Given the description of an element on the screen output the (x, y) to click on. 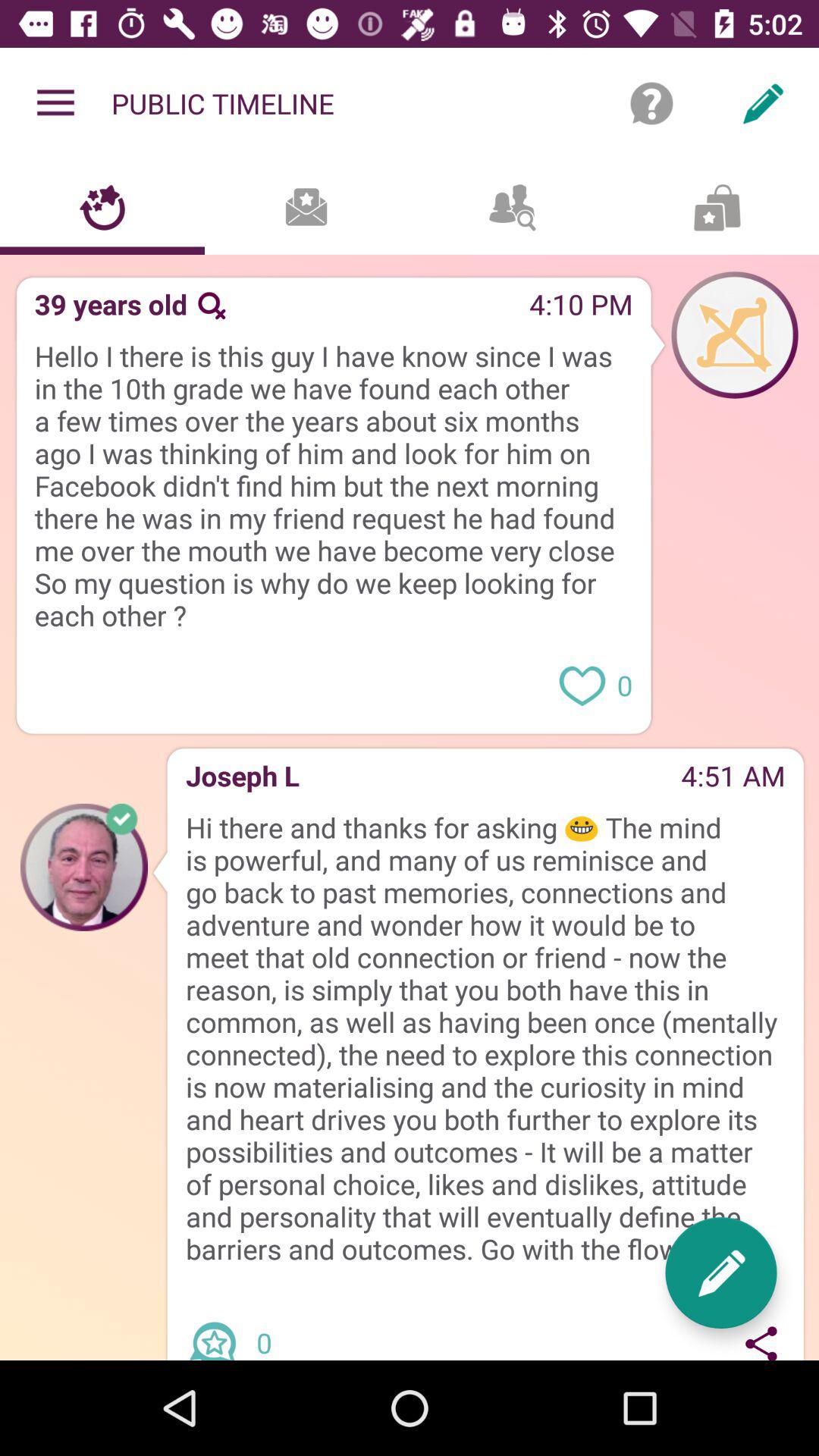
tap item to the right of the 0 item (720, 1272)
